Given the description of an element on the screen output the (x, y) to click on. 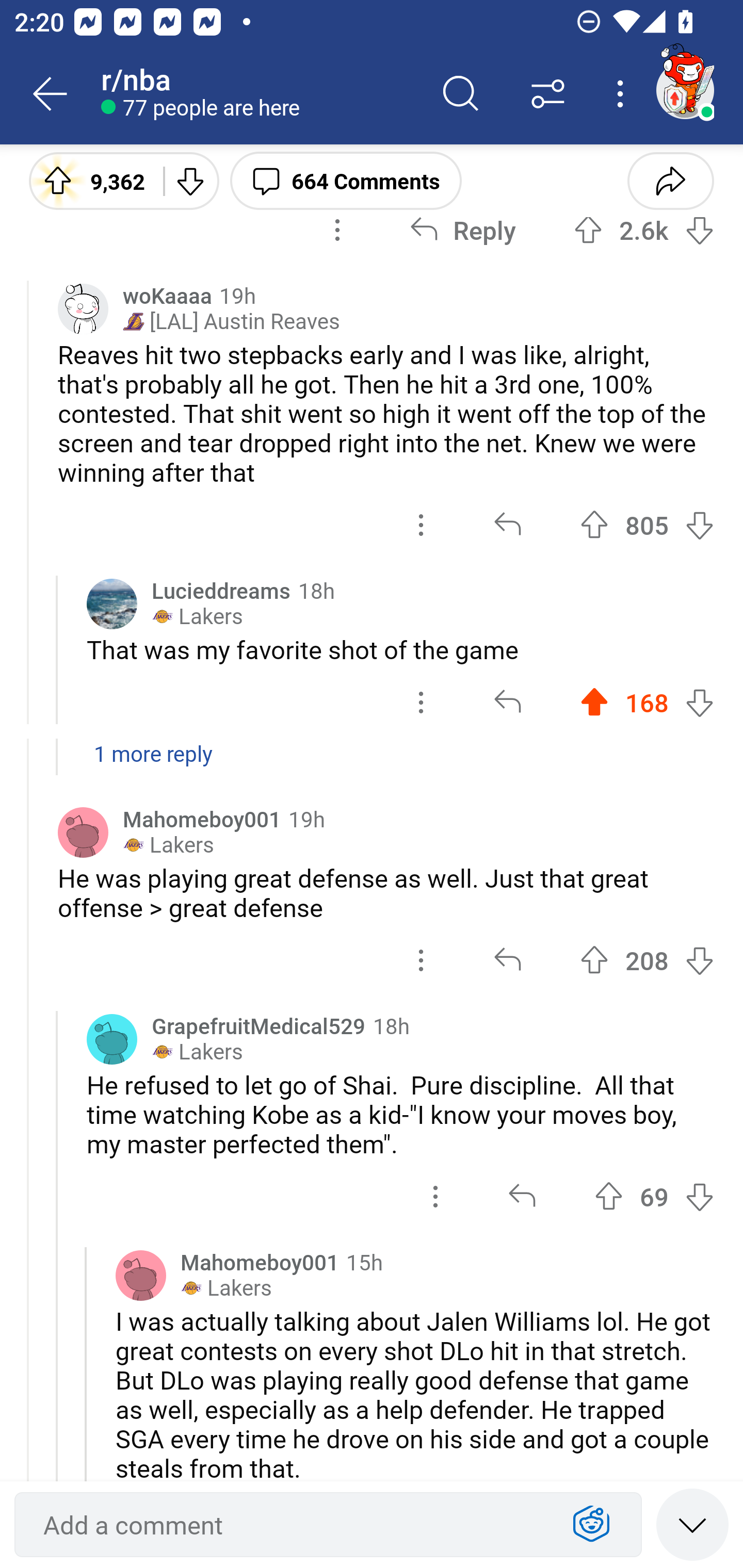
Back (50, 93)
TestAppium002 account (685, 90)
Search comments (460, 93)
Sort comments (547, 93)
More options (623, 93)
r/nba 77 people are here (259, 93)
Upvote 9,362 (88, 180)
Downvote (189, 180)
664 Comments (346, 180)
Share (670, 180)
options (337, 230)
Reply (462, 230)
Upvote 2.6k 2617 votes Downvote (643, 230)
Upvote (587, 230)
Downvote (699, 230)
19h (237, 295)
Custom avatar (82, 308)
￼ [LAL] Austin Reaves (231, 320)
options (420, 525)
Upvote 805 805 votes Downvote (647, 525)
Upvote (594, 525)
Downvote (699, 525)
18h (316, 590)
Avatar (111, 603)
￼ Lakers (196, 615)
That was my favorite shot of the game (400, 648)
options (420, 702)
Upvote 168 168 votes Downvote (647, 702)
Upvote (594, 702)
Downvote (699, 702)
1 more reply (371, 764)
19h (306, 819)
Avatar (82, 832)
￼ Lakers (167, 844)
options (420, 960)
Upvote 208 208 votes Downvote (647, 960)
Upvote (594, 960)
Downvote (699, 960)
18h (390, 1025)
Avatar (111, 1039)
￼ Lakers (196, 1051)
options (435, 1196)
Upvote 69 69 votes Downvote (654, 1196)
Upvote (608, 1196)
Downvote (699, 1196)
15h (364, 1261)
Avatar (140, 1275)
￼ Lakers (225, 1287)
Add a comment Show Expressions (328, 1524)
Speed read (692, 1524)
Add a comment (291, 1524)
Show Expressions (590, 1524)
